Given the description of an element on the screen output the (x, y) to click on. 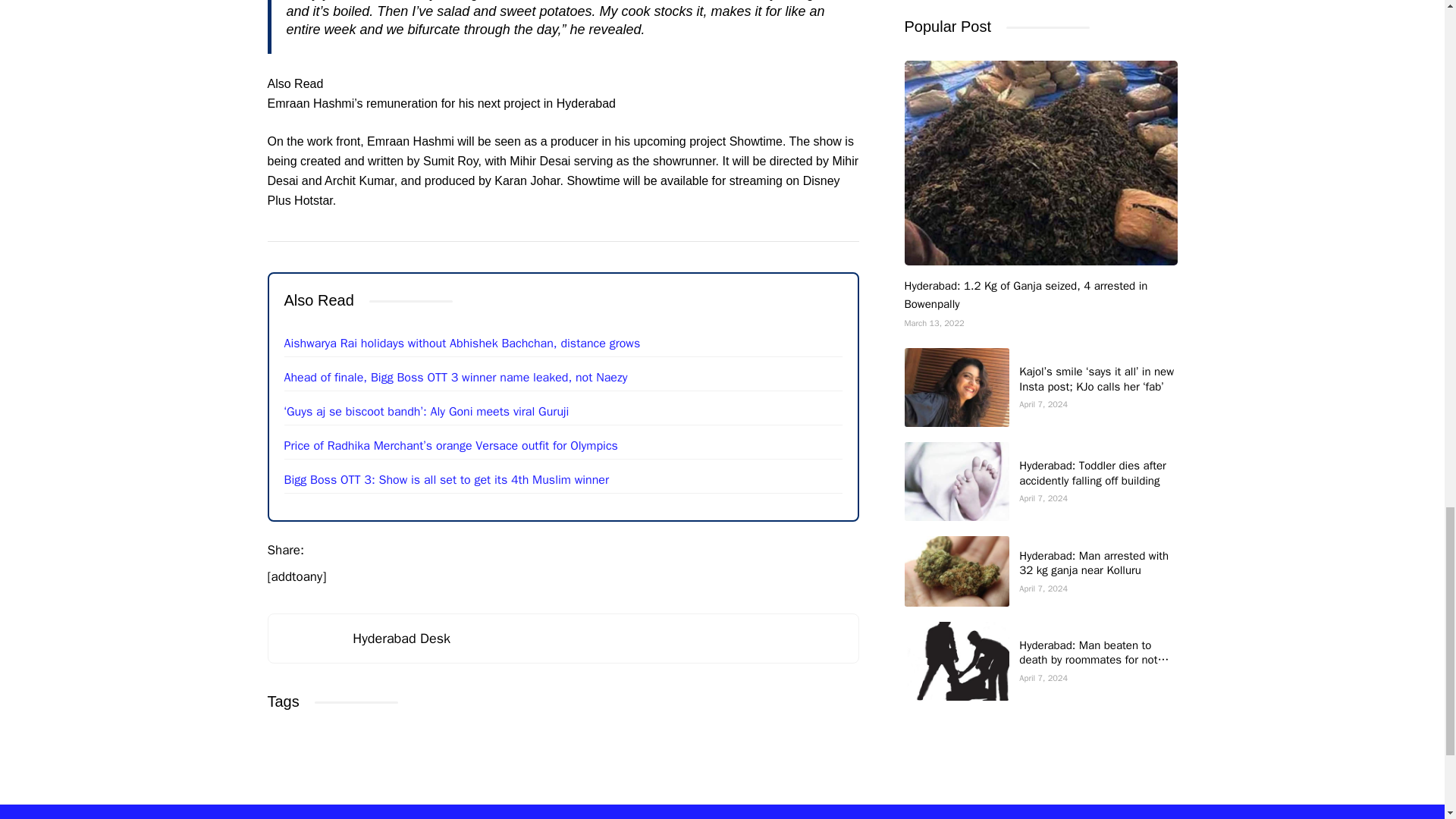
Hyderabad Desk (400, 638)
